Given the description of an element on the screen output the (x, y) to click on. 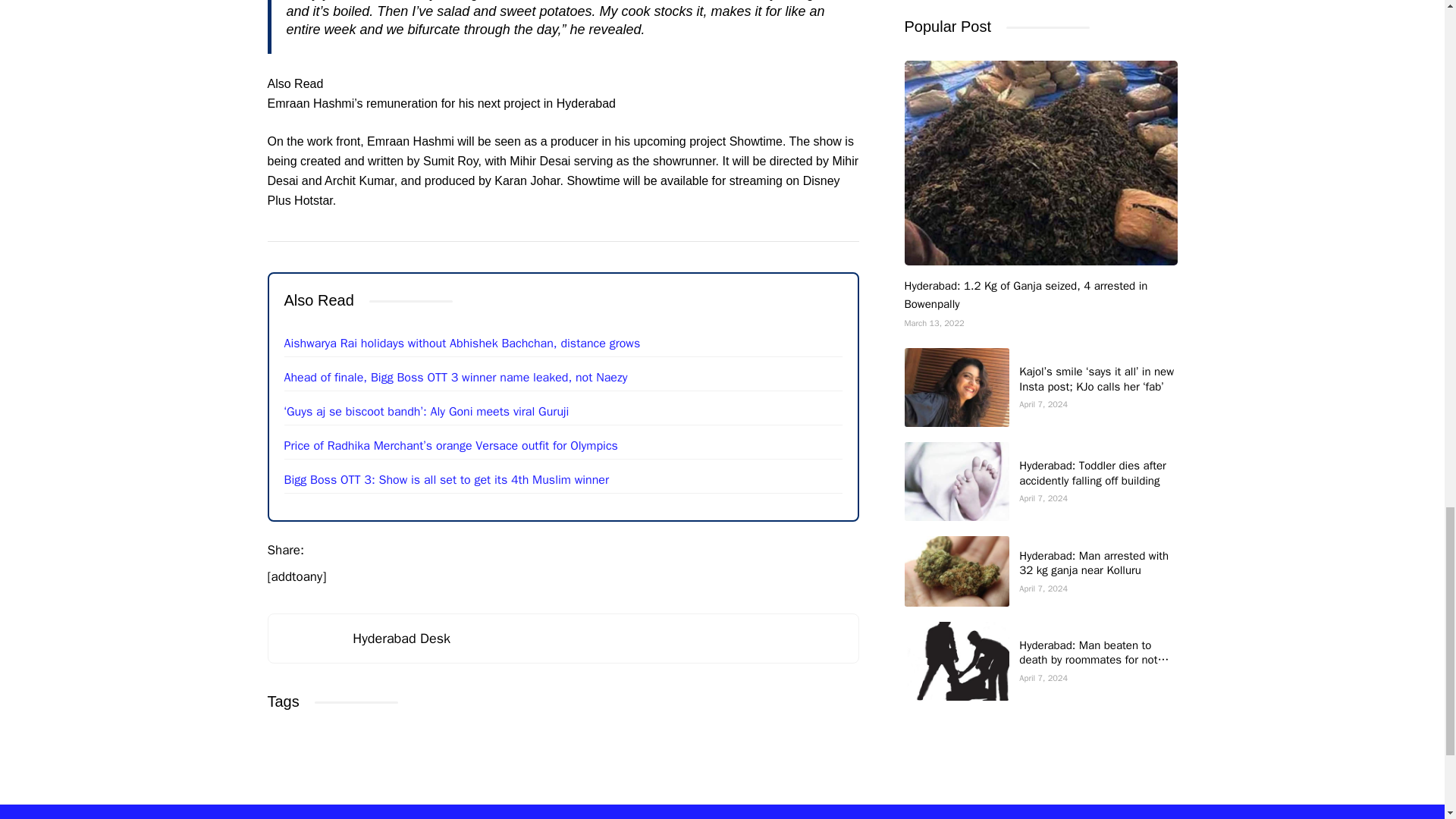
Hyderabad Desk (400, 638)
